Given the description of an element on the screen output the (x, y) to click on. 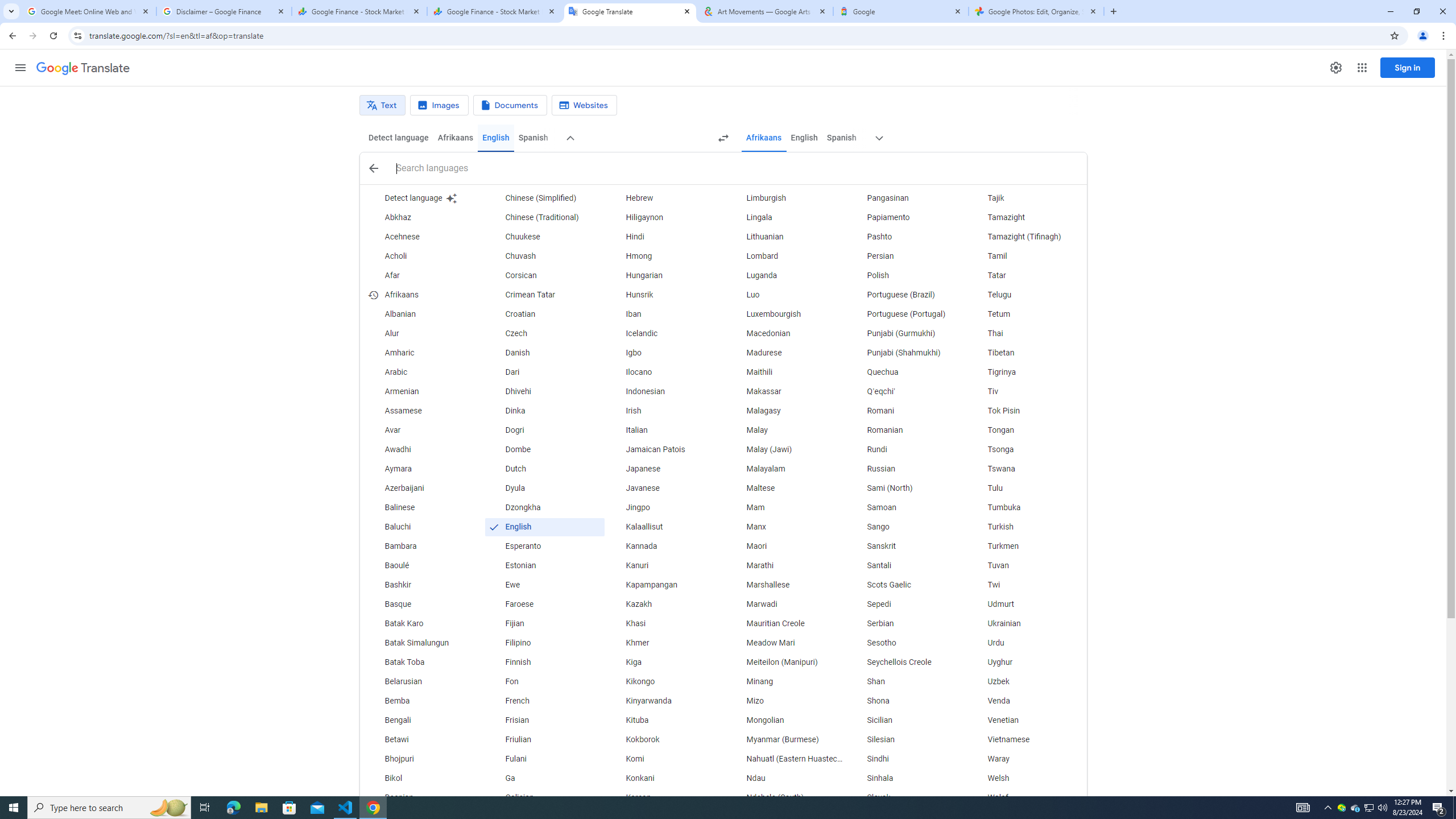
Tumbuka (1026, 507)
Kituba (665, 720)
Kinyarwanda (665, 701)
Website translation (584, 105)
Tibetan (1026, 352)
Tajik (1026, 198)
Google (901, 11)
Betawi (423, 739)
Romanian (905, 430)
Kikongo (665, 682)
Chuukese (544, 236)
